Given the description of an element on the screen output the (x, y) to click on. 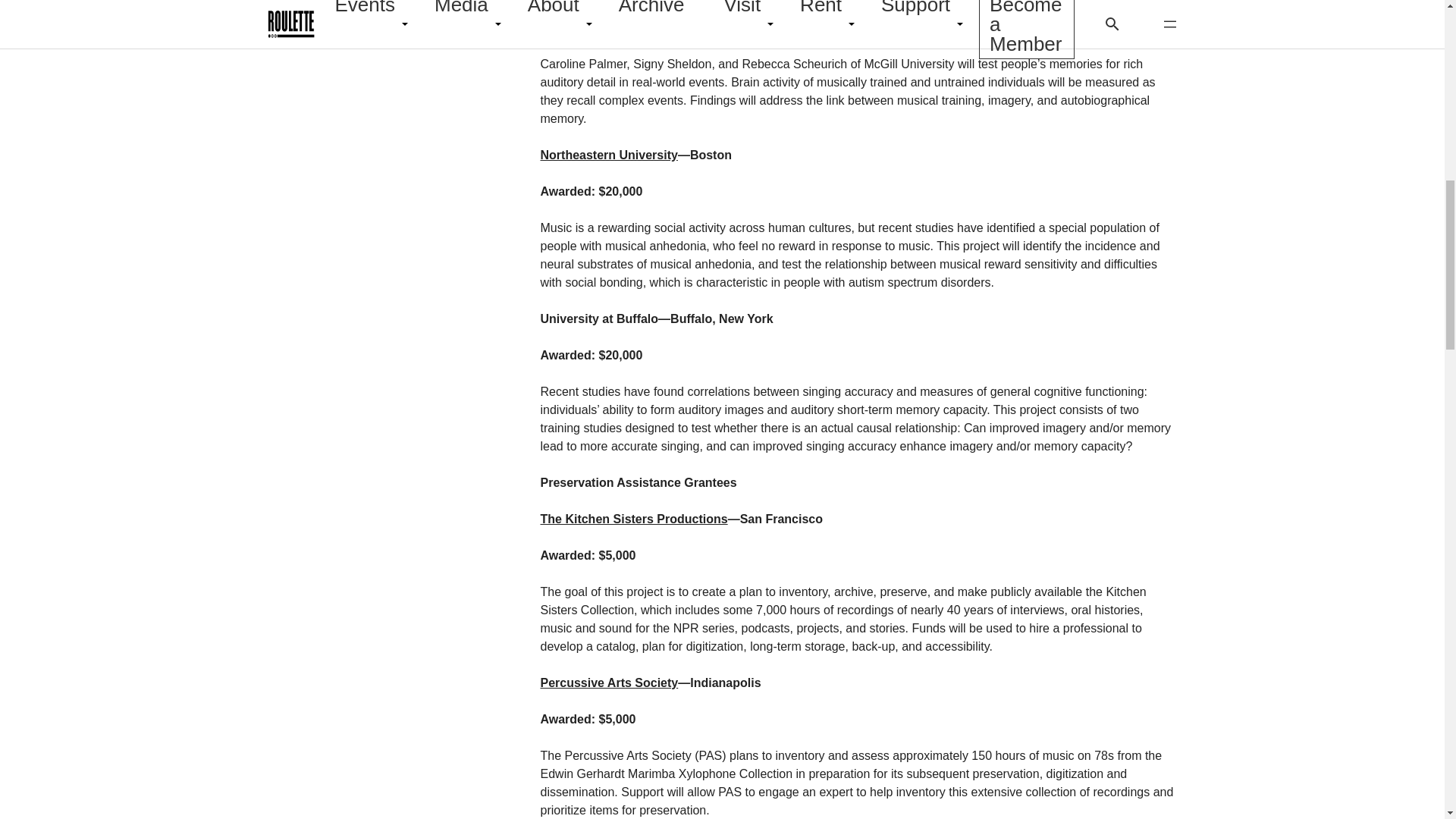
The Kitchen Sisters Productions (633, 518)
Percussive Arts Society (609, 682)
Northeastern University (608, 154)
